Given the description of an element on the screen output the (x, y) to click on. 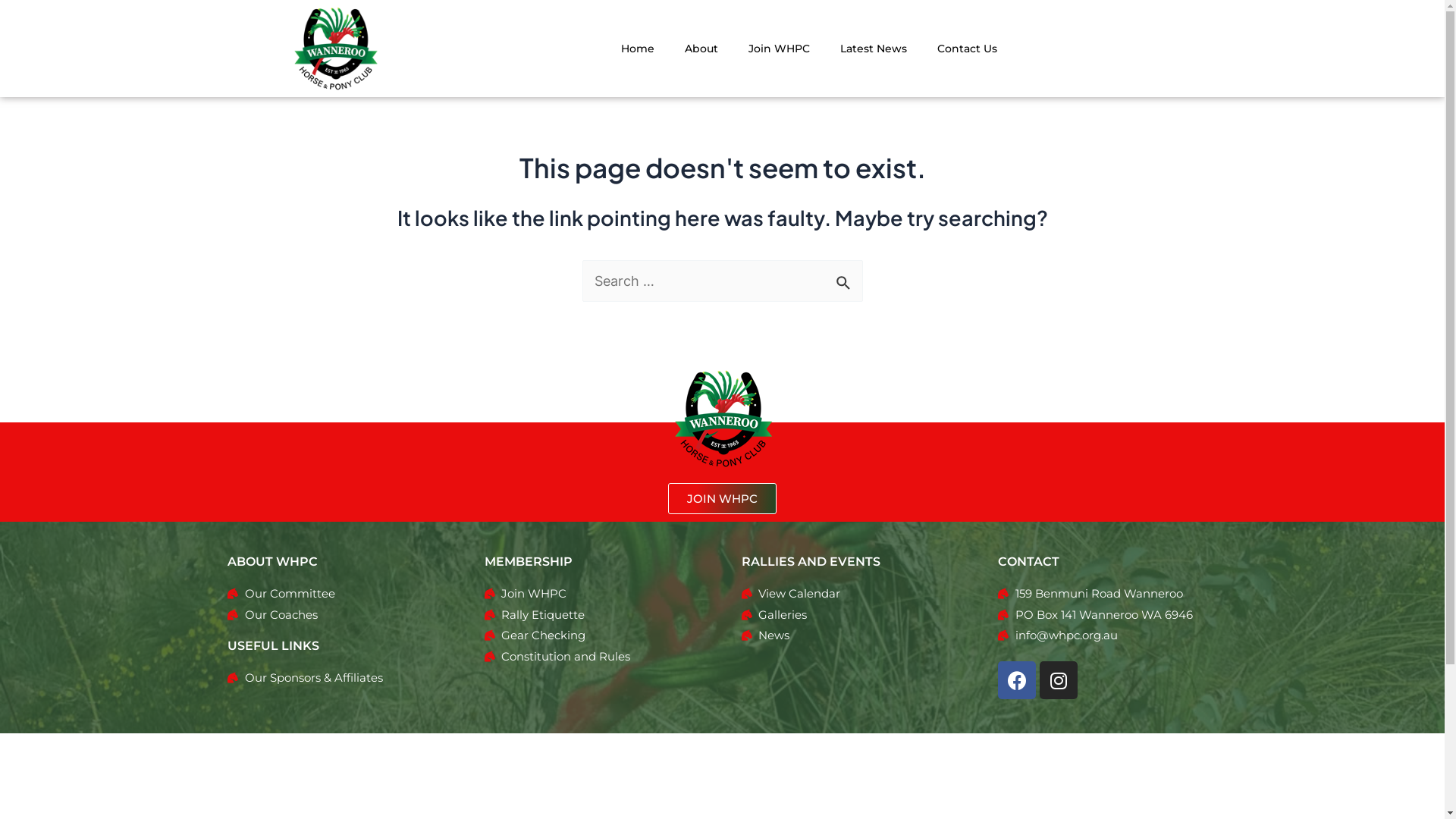
About Element type: text (701, 48)
Rally Etiquette Element type: text (593, 614)
Latest News Element type: text (873, 48)
info@whpc.org.au Element type: text (1107, 635)
Our Coaches Element type: text (336, 614)
Join WHPC Element type: text (593, 593)
Instagram Element type: text (1058, 680)
Gear Checking Element type: text (593, 635)
Home Element type: text (637, 48)
News Element type: text (850, 635)
Our Sponsors & Affiliates Element type: text (336, 677)
Galleries Element type: text (850, 614)
Contact Us Element type: text (967, 48)
Facebook Element type: text (1016, 680)
Our Committee Element type: text (336, 593)
JOIN WHPC Element type: text (722, 498)
Constitution and Rules Element type: text (593, 656)
View Calendar Element type: text (850, 593)
Join WHPC Element type: text (779, 48)
Search Element type: text (845, 277)
